Given the description of an element on the screen output the (x, y) to click on. 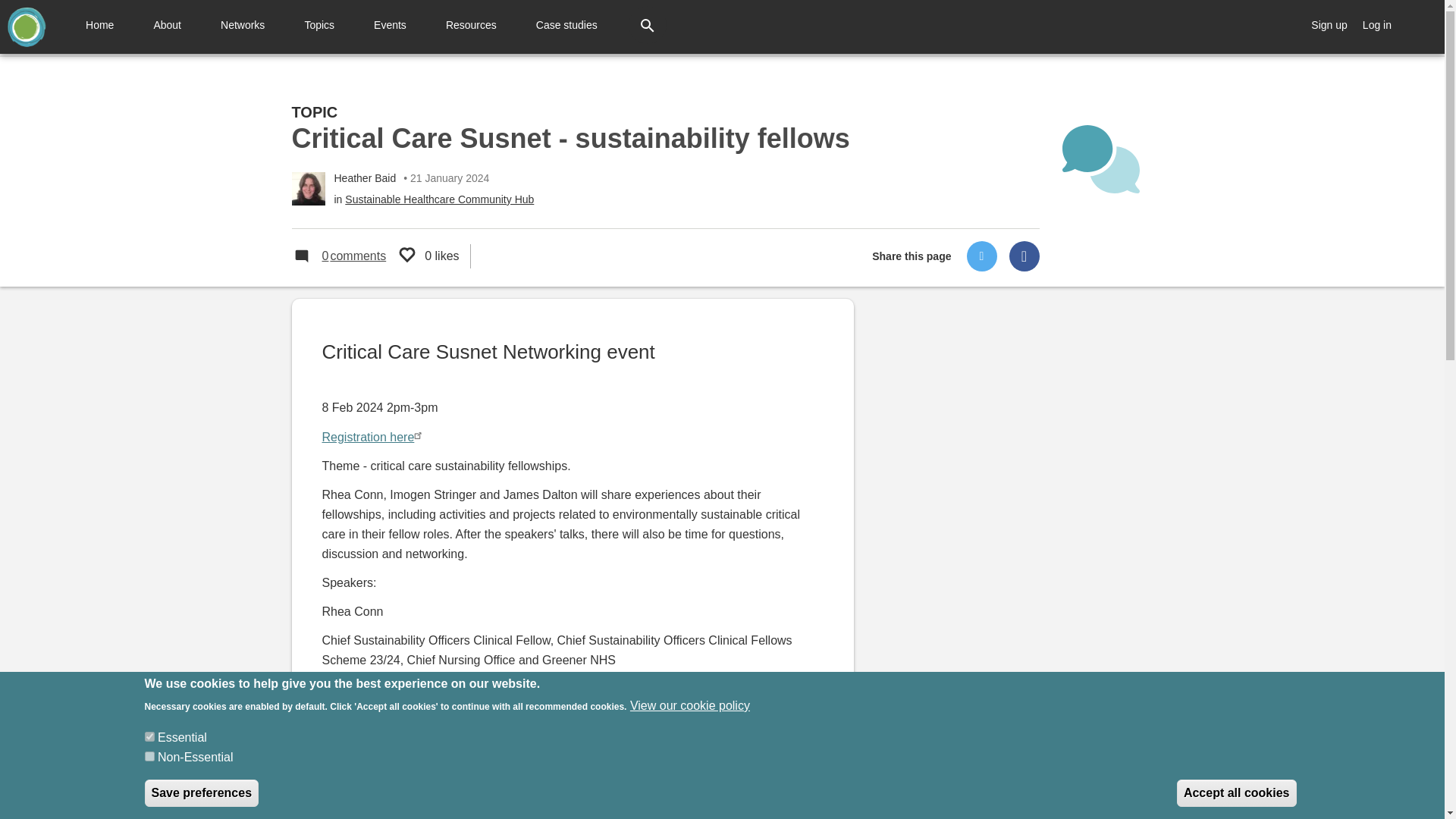
Accept all cookies (1236, 792)
Events (389, 24)
Total amount of comments (344, 256)
Case studies (566, 24)
Like (411, 255)
View our cookie policy (689, 705)
Total amount of likes (344, 256)
Home (411, 255)
Home (25, 26)
